Given the description of an element on the screen output the (x, y) to click on. 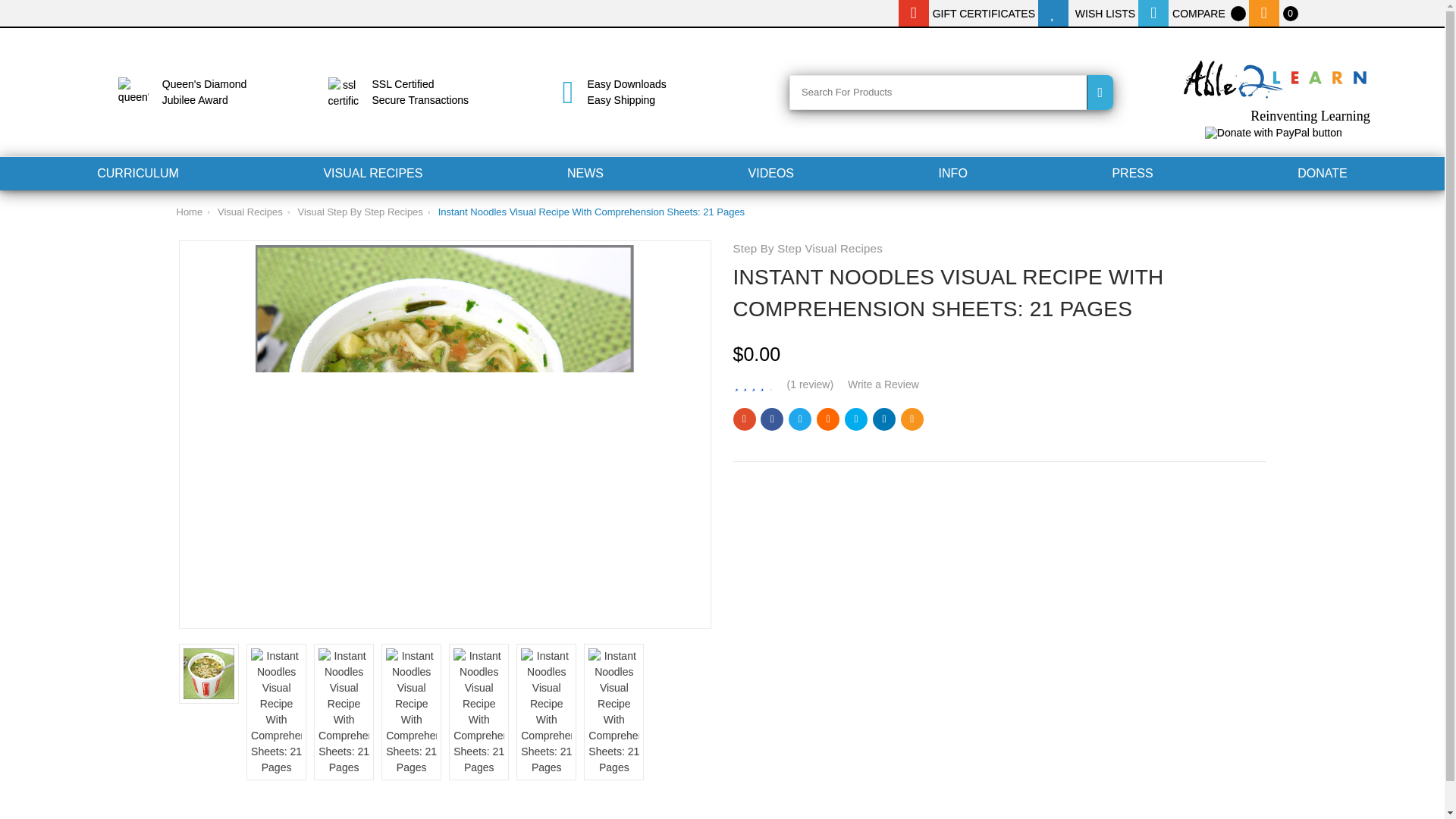
PayPal - The safer, easier way to pay online! (1273, 132)
Able2learn Inc. (1275, 75)
